Given the description of an element on the screen output the (x, y) to click on. 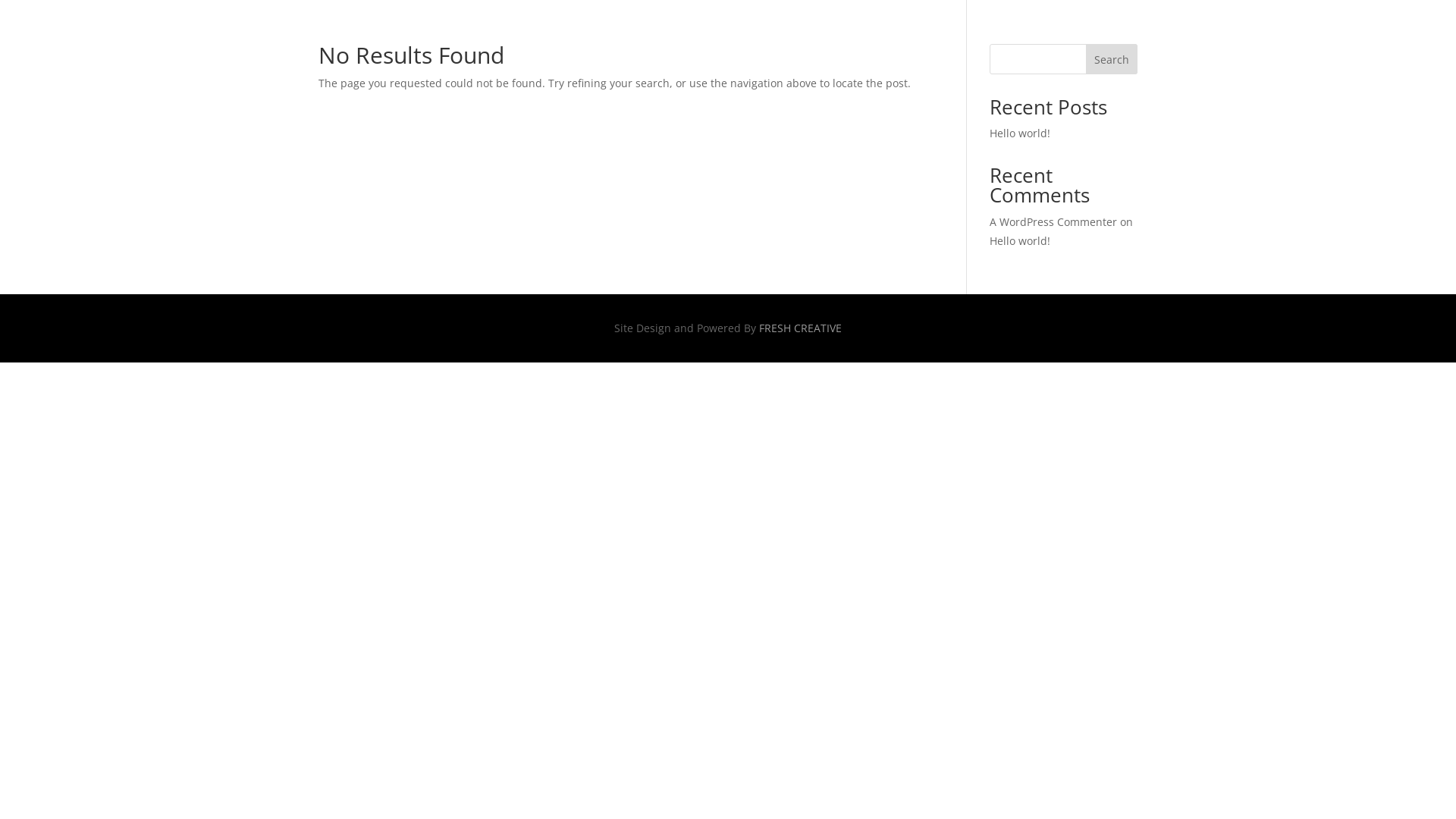
Search Element type: text (1111, 58)
Hello world! Element type: text (1019, 240)
A WordPress Commenter Element type: text (1053, 221)
Hello world! Element type: text (1019, 132)
FRESH CREATIVE Element type: text (800, 327)
